Given the description of an element on the screen output the (x, y) to click on. 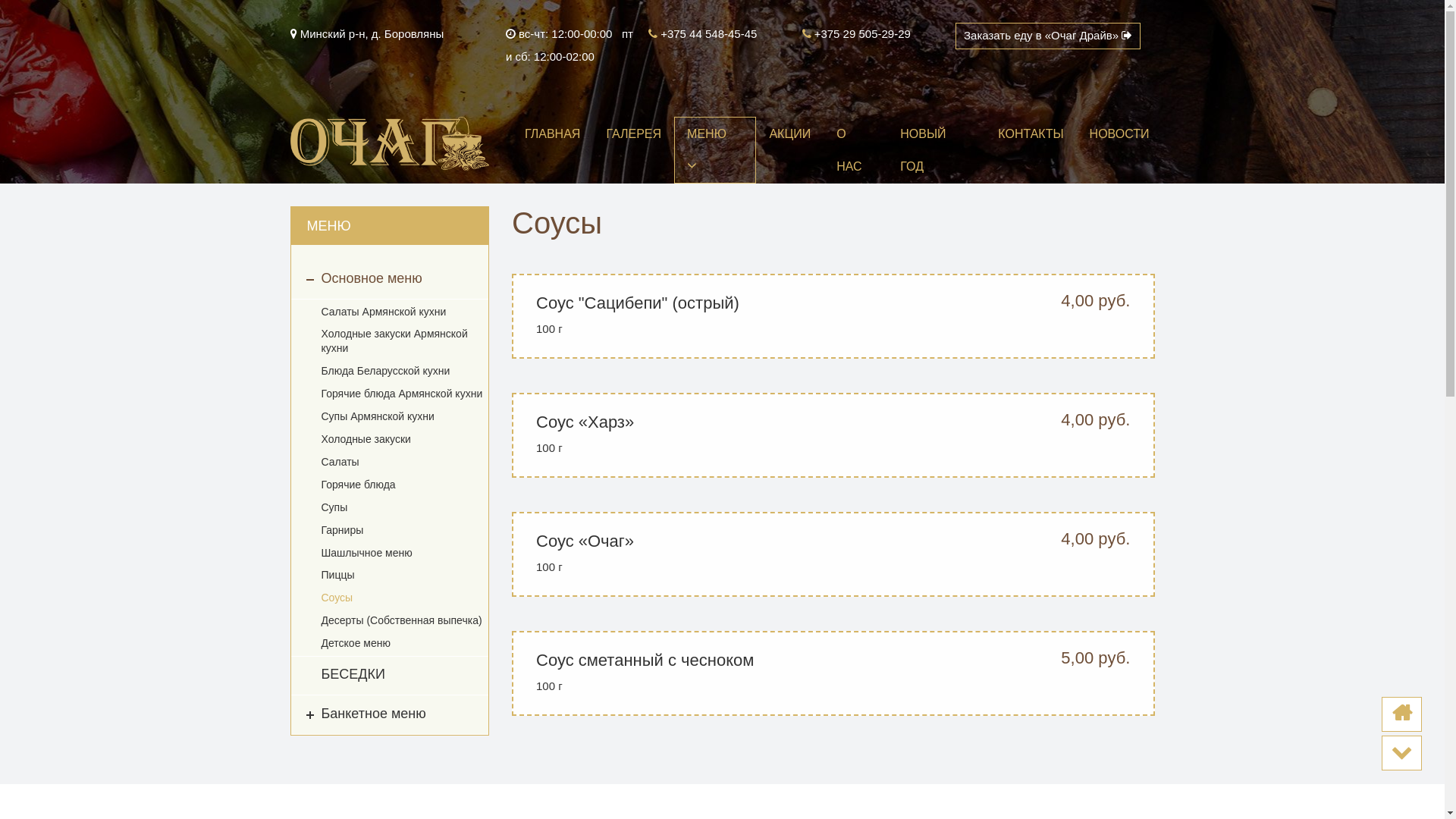
+375 29 505-29-29 Element type: text (856, 33)
+375 44 548-45-45 Element type: text (702, 33)
